Given the description of an element on the screen output the (x, y) to click on. 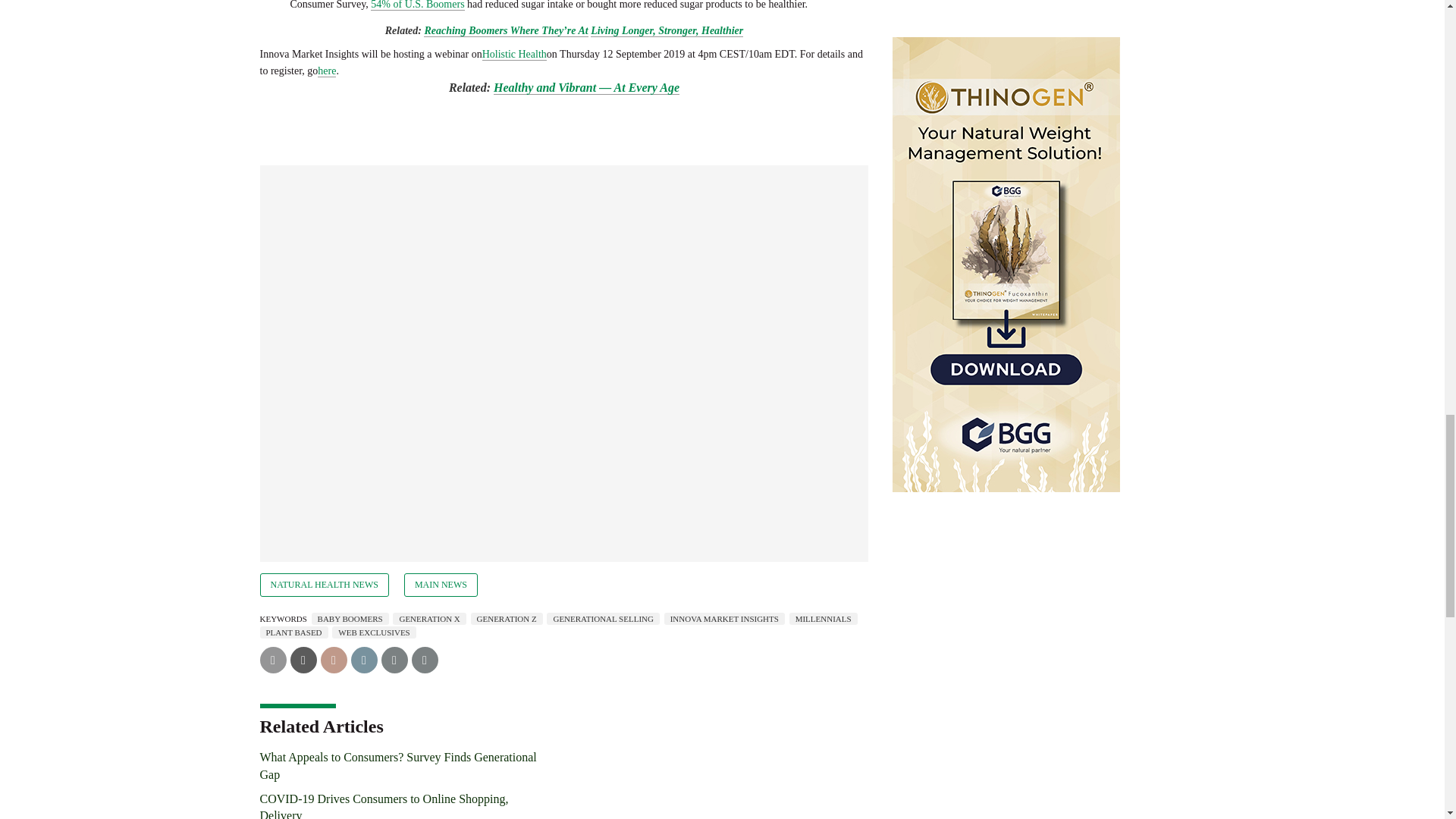
3rd party ad content (1038, 621)
